Given the description of an element on the screen output the (x, y) to click on. 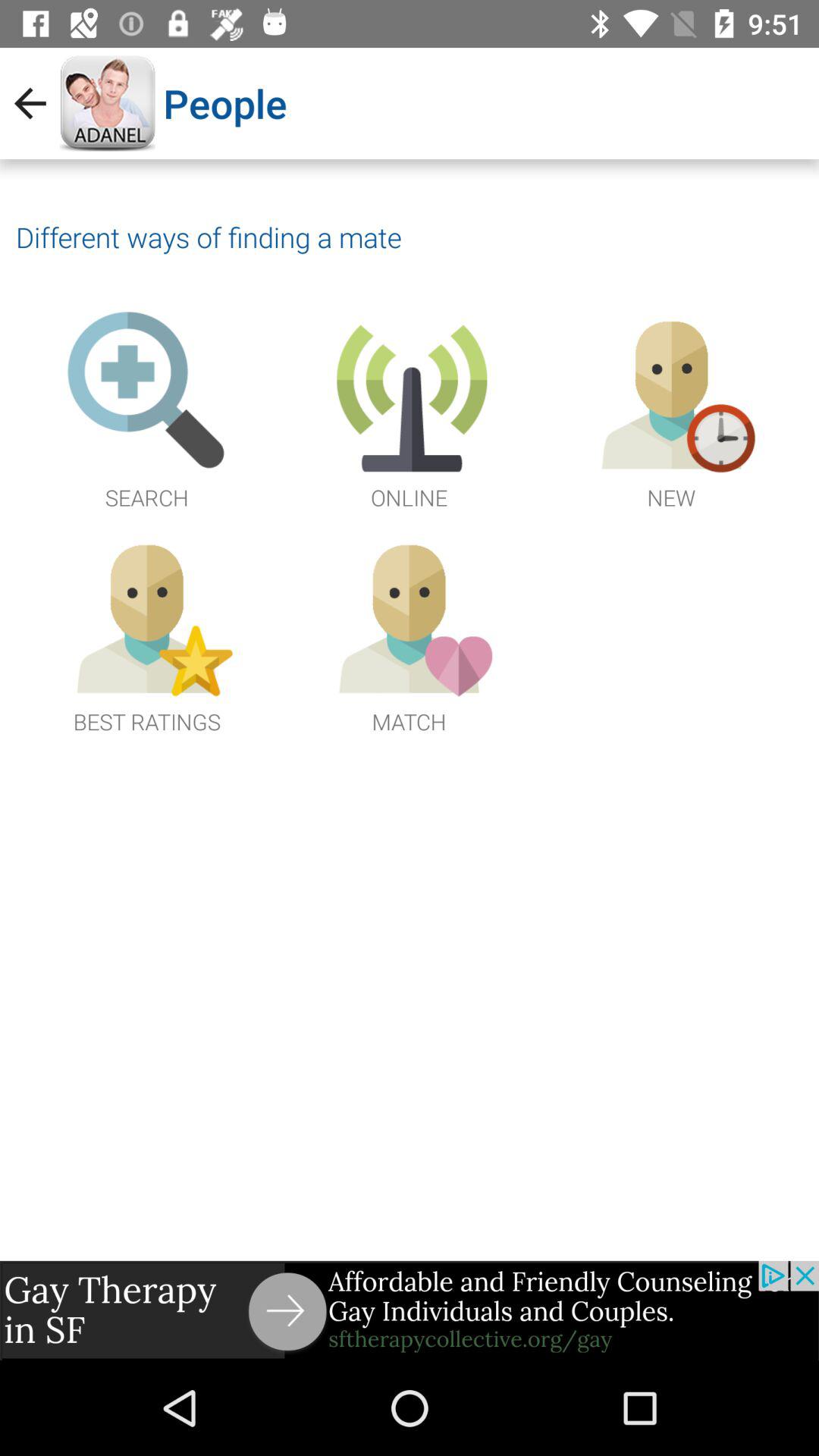
go to best ratings (146, 634)
